Given the description of an element on the screen output the (x, y) to click on. 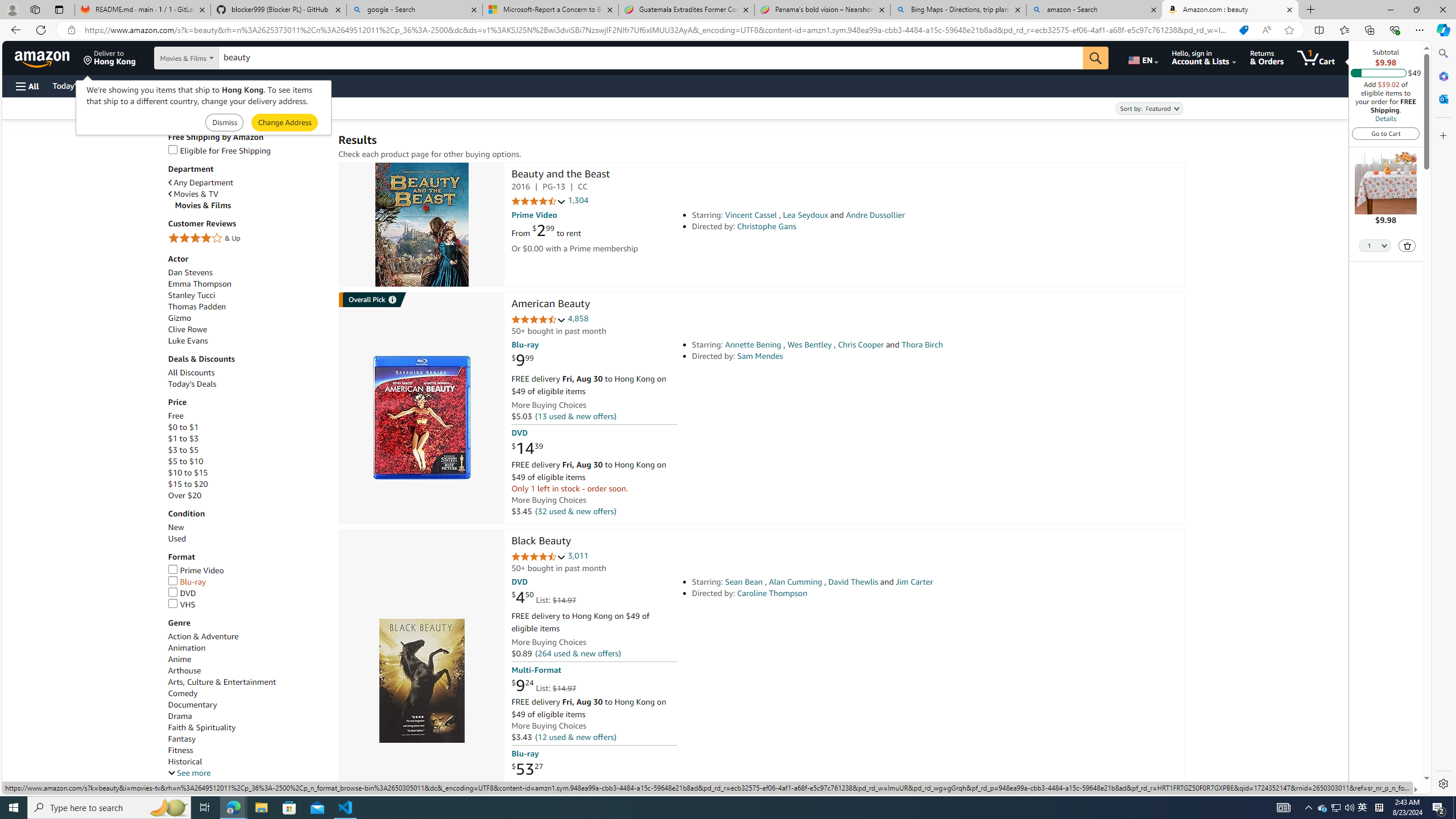
Free (247, 415)
From $2.99 to rent (545, 230)
Stanley Tucci (191, 294)
Drama (247, 716)
All Discounts (247, 372)
Amazon (43, 57)
Comedy (182, 692)
Vincent Cassel (751, 214)
Directed by: Christophe Gans (850, 226)
Documentary (191, 704)
Movies & TV (247, 194)
Search Amazon (650, 57)
Christophe Gans (766, 226)
